Given the description of an element on the screen output the (x, y) to click on. 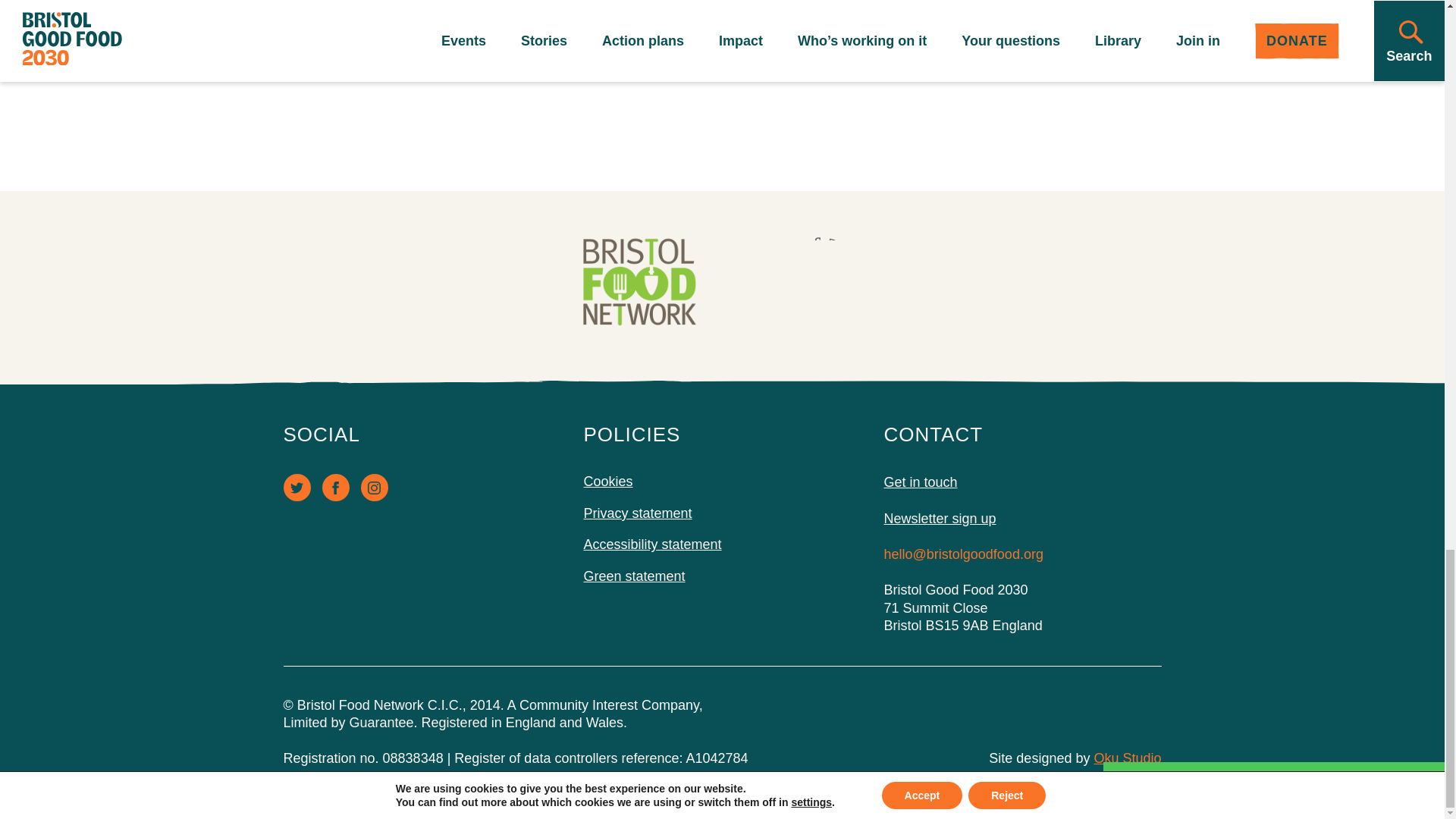
Get in touch (1022, 482)
Accessibility statement (652, 544)
Green statement (634, 575)
Oku Studio (1126, 758)
Privacy statement (638, 513)
Twitter - Opens in new window. (297, 487)
Instagram - Opens in new window. (374, 487)
Cookies (608, 481)
